Given the description of an element on the screen output the (x, y) to click on. 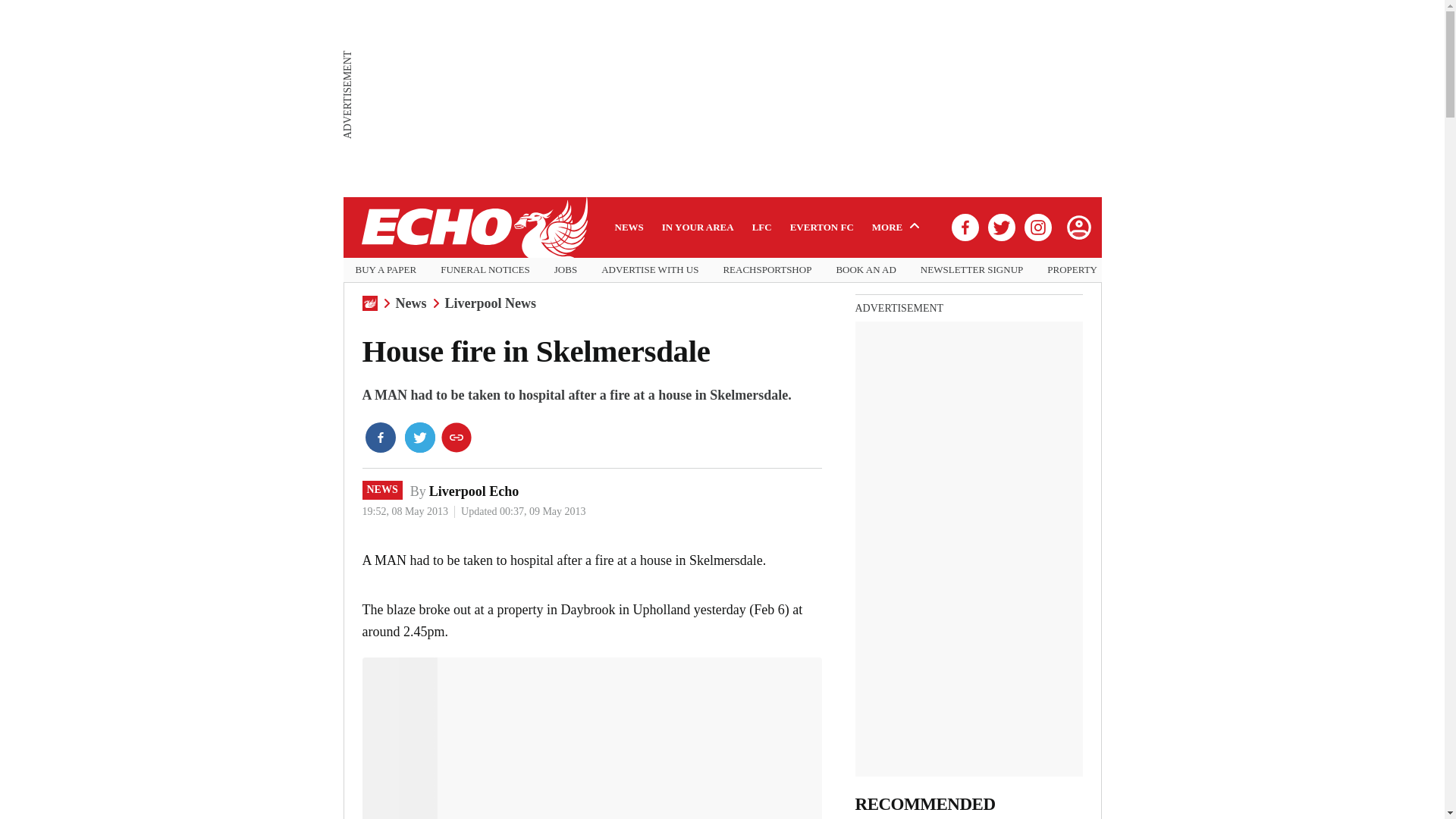
News (411, 303)
REACHSPORTSHOP (766, 270)
ADVERTISE WITH US (649, 270)
EVERTON FC (821, 227)
avatar (1077, 227)
Liverpool News (489, 303)
Go to the Liverpool Echo homepage (473, 227)
BUY A PAPER (385, 270)
MORE (897, 227)
NEWS (382, 489)
